Given the description of an element on the screen output the (x, y) to click on. 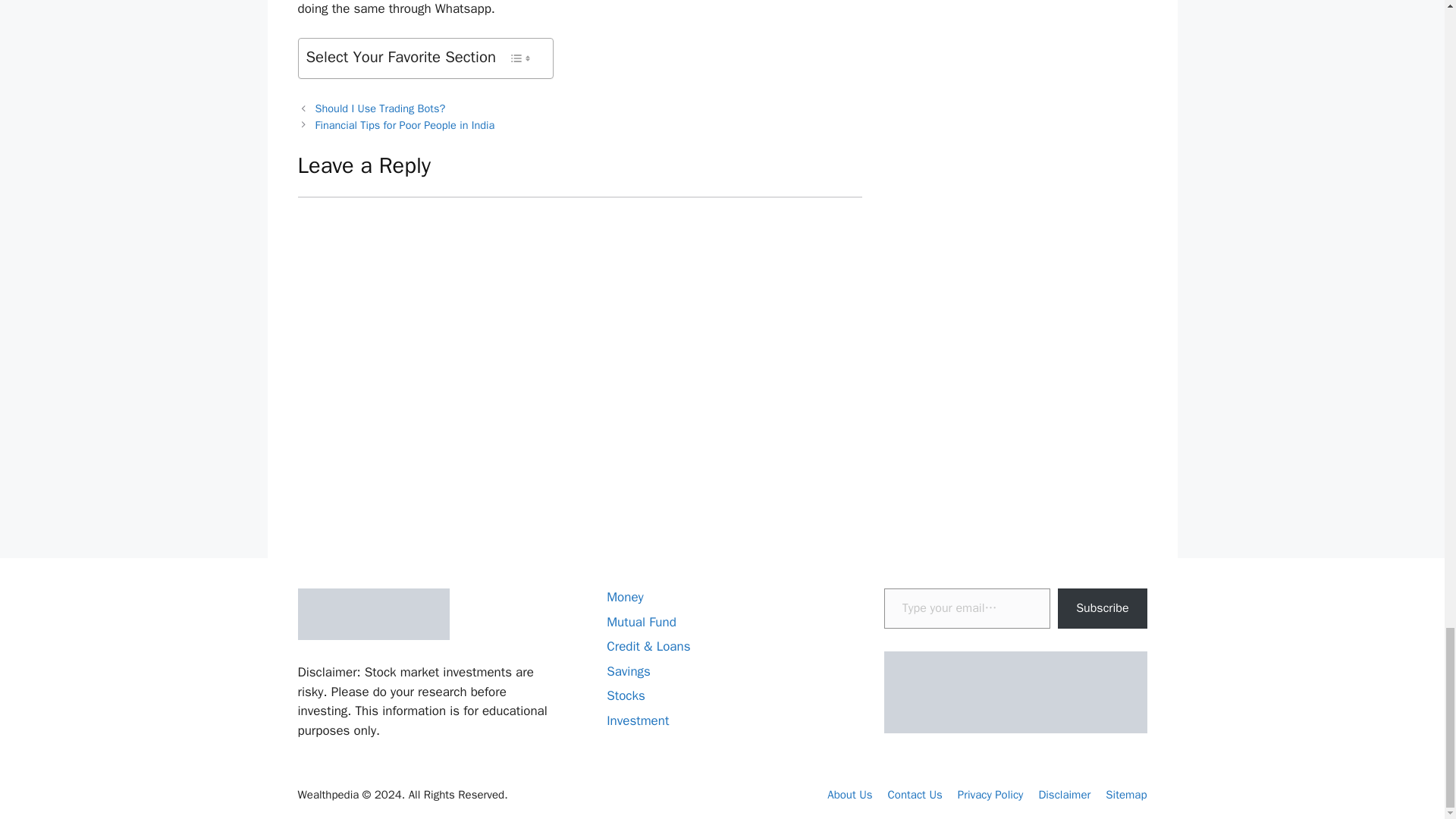
Money (625, 596)
Please fill in this field. (966, 608)
Should I Use Trading Bots? (380, 108)
Financial Tips for Poor People in India (405, 124)
Mutual Fund (642, 621)
